Given the description of an element on the screen output the (x, y) to click on. 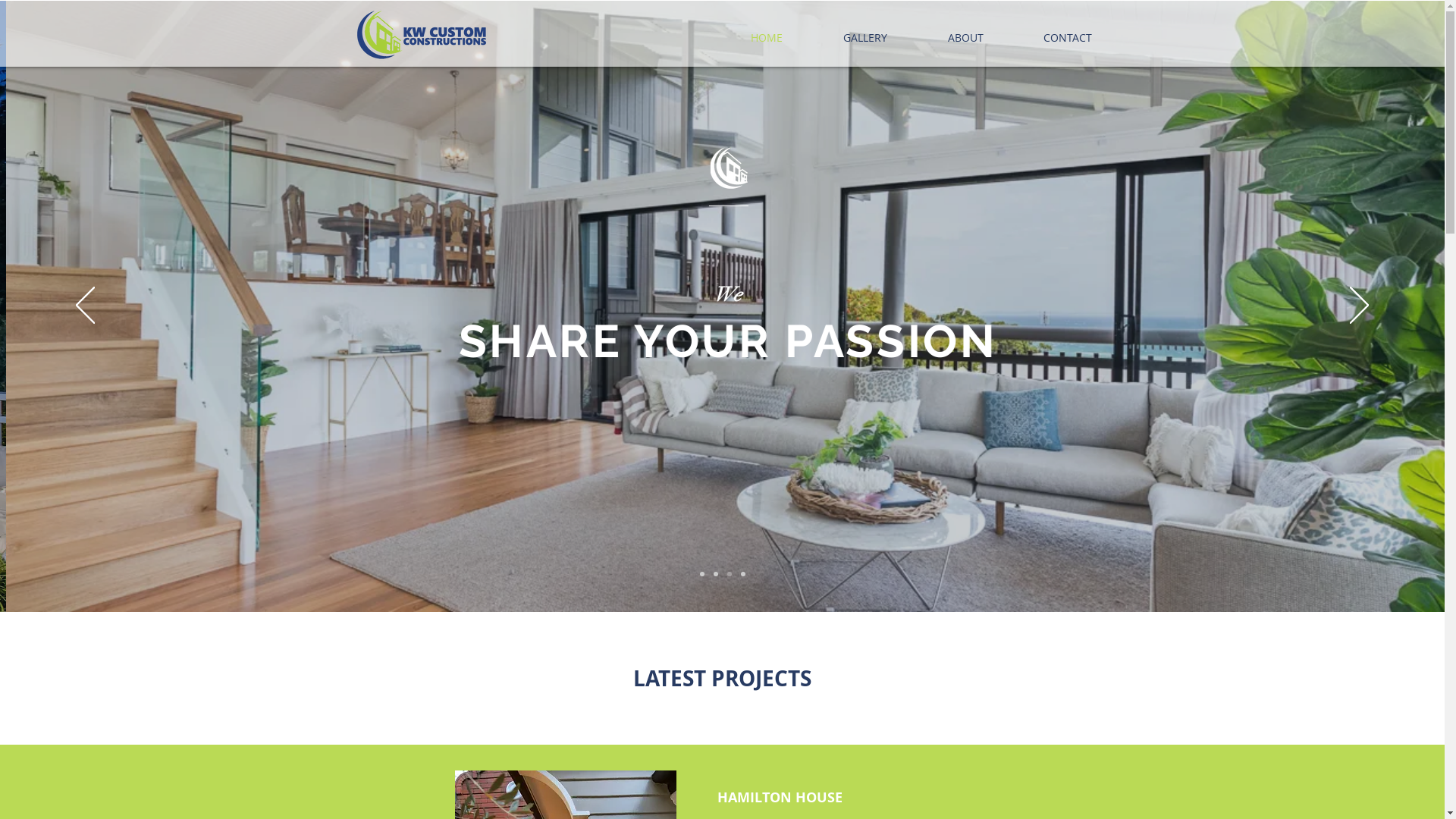
CONTACT Element type: text (1067, 37)
GALLERY Element type: text (864, 37)
HOME Element type: text (766, 37)
ABOUT Element type: text (965, 37)
